Given the description of an element on the screen output the (x, y) to click on. 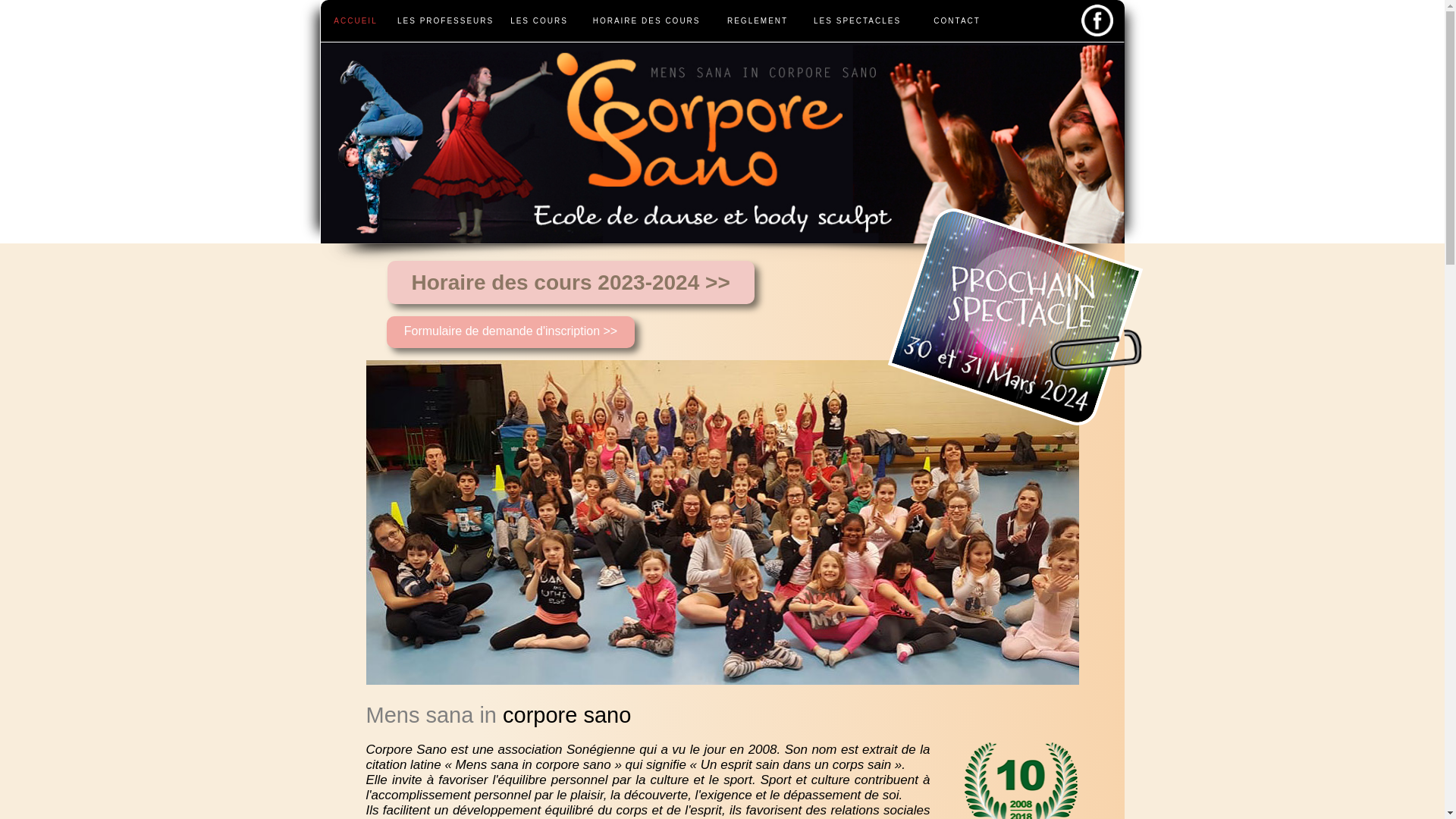
LES PROFESSEURS Element type: text (445, 20)
REGLEMENT Element type: text (757, 20)
LES SPECTACLES Element type: text (857, 20)
Horaire des cours 2023-2024 >> Element type: text (570, 282)
Formulaire de demande d'inscription >> Element type: text (509, 332)
HORAIRE DES COURS Element type: text (646, 20)
CONTACT Element type: text (957, 20)
LES COURS Element type: text (539, 20)
ACCUEIL Element type: text (355, 20)
